Given the description of an element on the screen output the (x, y) to click on. 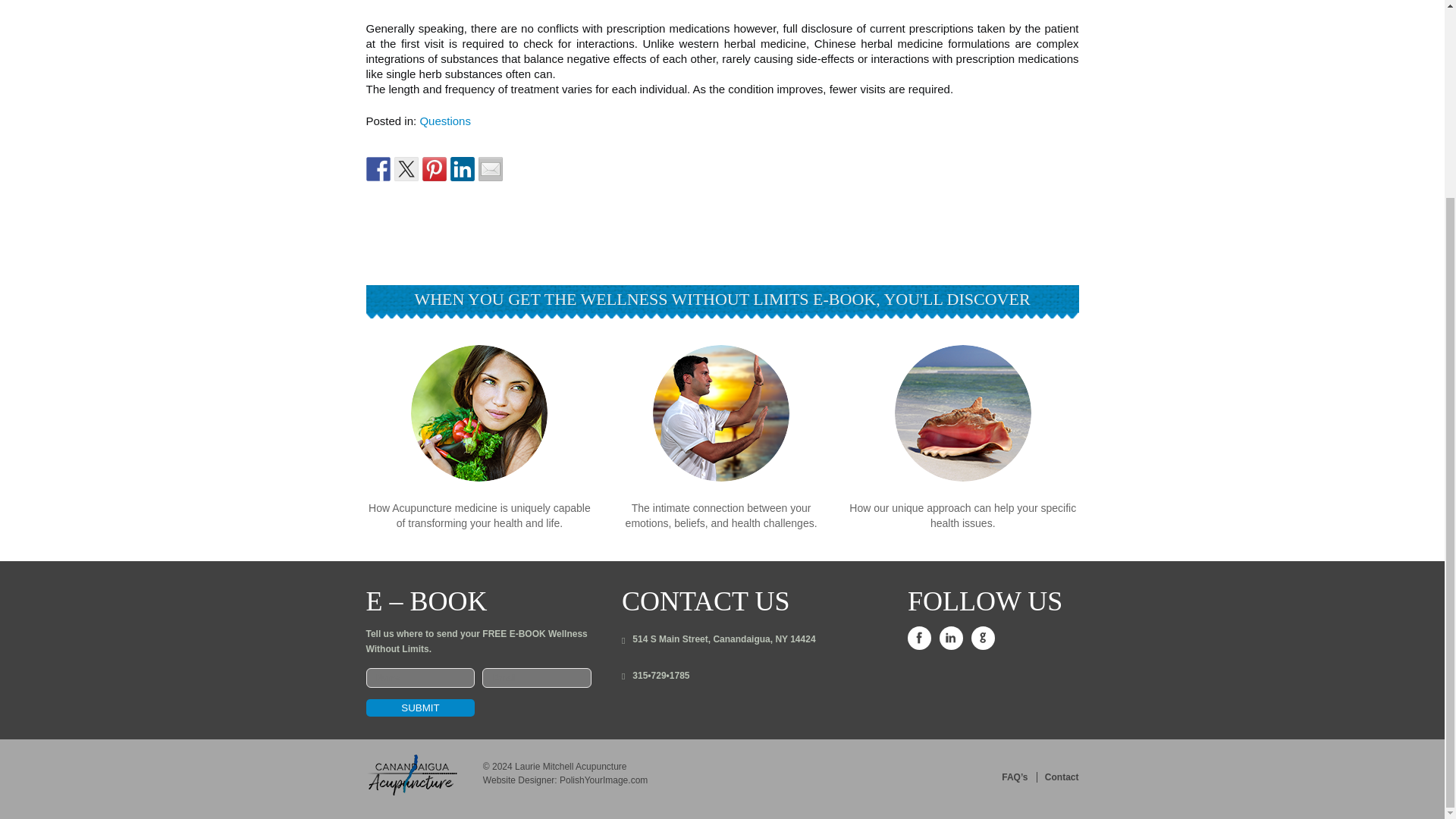
Pin it with Pinterest (433, 168)
Share by email (489, 168)
Questions (444, 120)
Laurie Mitchell Acupuncture (570, 766)
Submit (419, 707)
Submit (419, 707)
Share on Facebook (377, 168)
Share on Linkedin (461, 168)
Share on Twitter (406, 168)
